Given the description of an element on the screen output the (x, y) to click on. 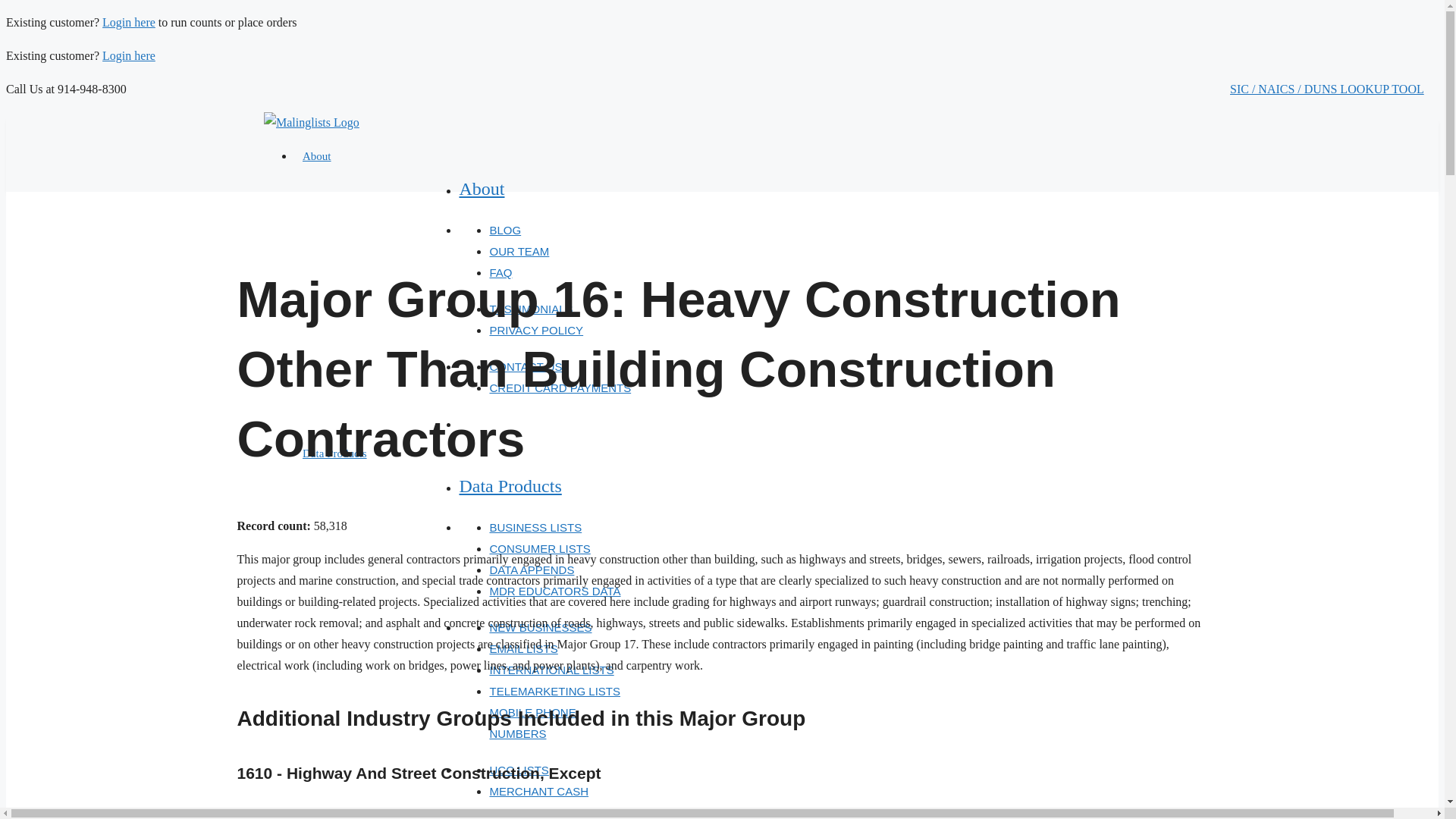
MDR EDUCATORS DATA (554, 590)
BLOG (505, 229)
CONSUMER LISTS (539, 548)
Login here (128, 21)
Data Products (509, 485)
PRIVACY POLICY (536, 329)
CREDIT CARD PAYMENTS (559, 387)
TELEMARKETING LISTS (554, 690)
OUR TEAM (518, 250)
DATA APPENDS (531, 569)
